Given the description of an element on the screen output the (x, y) to click on. 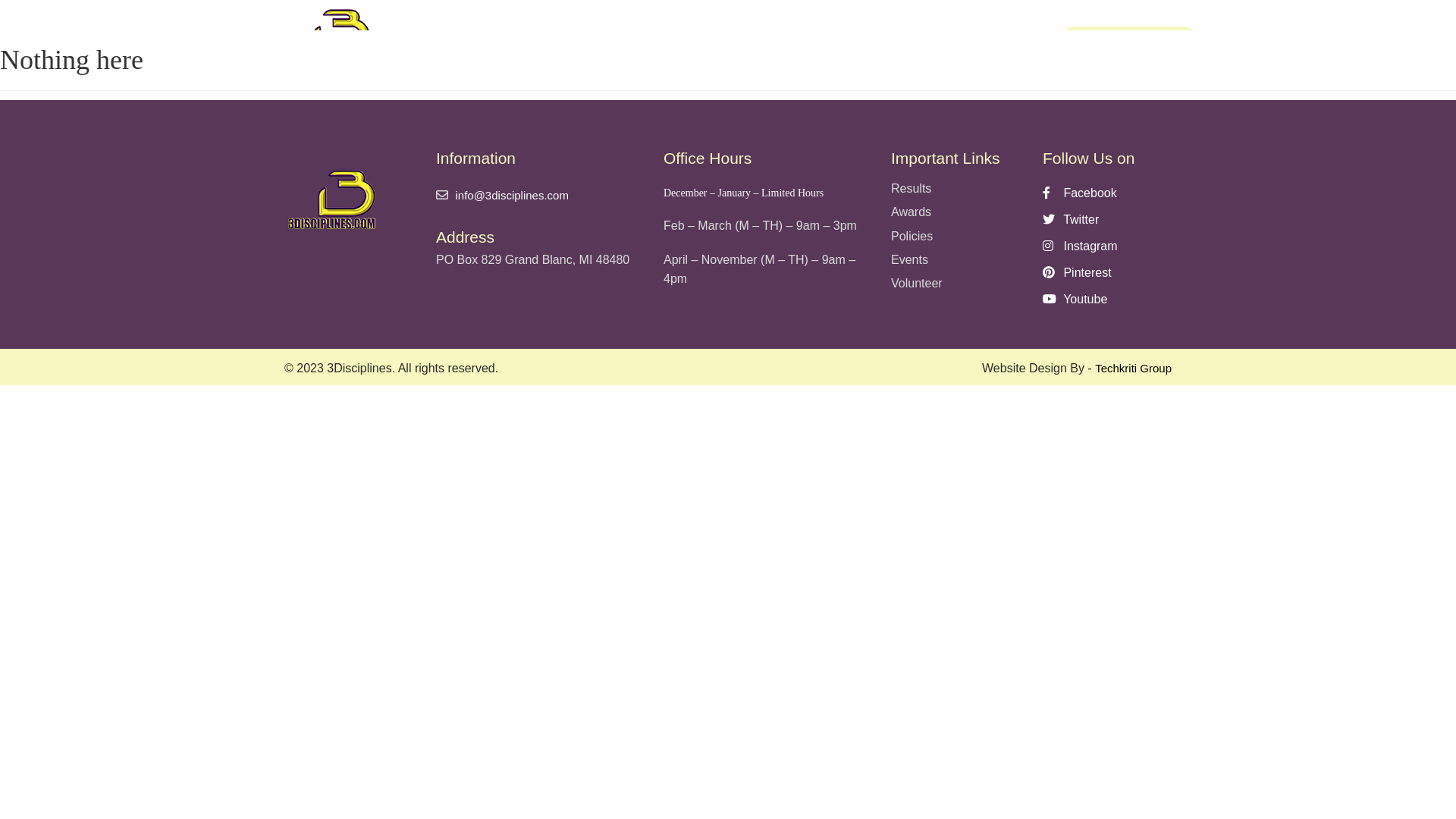
Facebook Element type: text (1106, 192)
Home Element type: text (465, 36)
Services Element type: text (648, 36)
Twitter Element type: text (1106, 219)
Policies Element type: text (955, 236)
Instagram Element type: text (1106, 246)
Techkriti Group Element type: text (1133, 367)
Events Element type: text (548, 36)
Giving Back Element type: text (755, 36)
Youtube Element type: text (1106, 299)
Volunteer Element type: text (855, 36)
info@3disciplines.com Element type: text (511, 194)
Pinterest Element type: text (1106, 272)
Contact Us Element type: text (961, 36)
Search Element type: text (1075, 41)
Events Element type: text (955, 260)
Awards Element type: text (955, 212)
Volunteer Element type: text (955, 283)
Results Element type: text (955, 189)
Search Element type: text (478, 81)
